Given the description of an element on the screen output the (x, y) to click on. 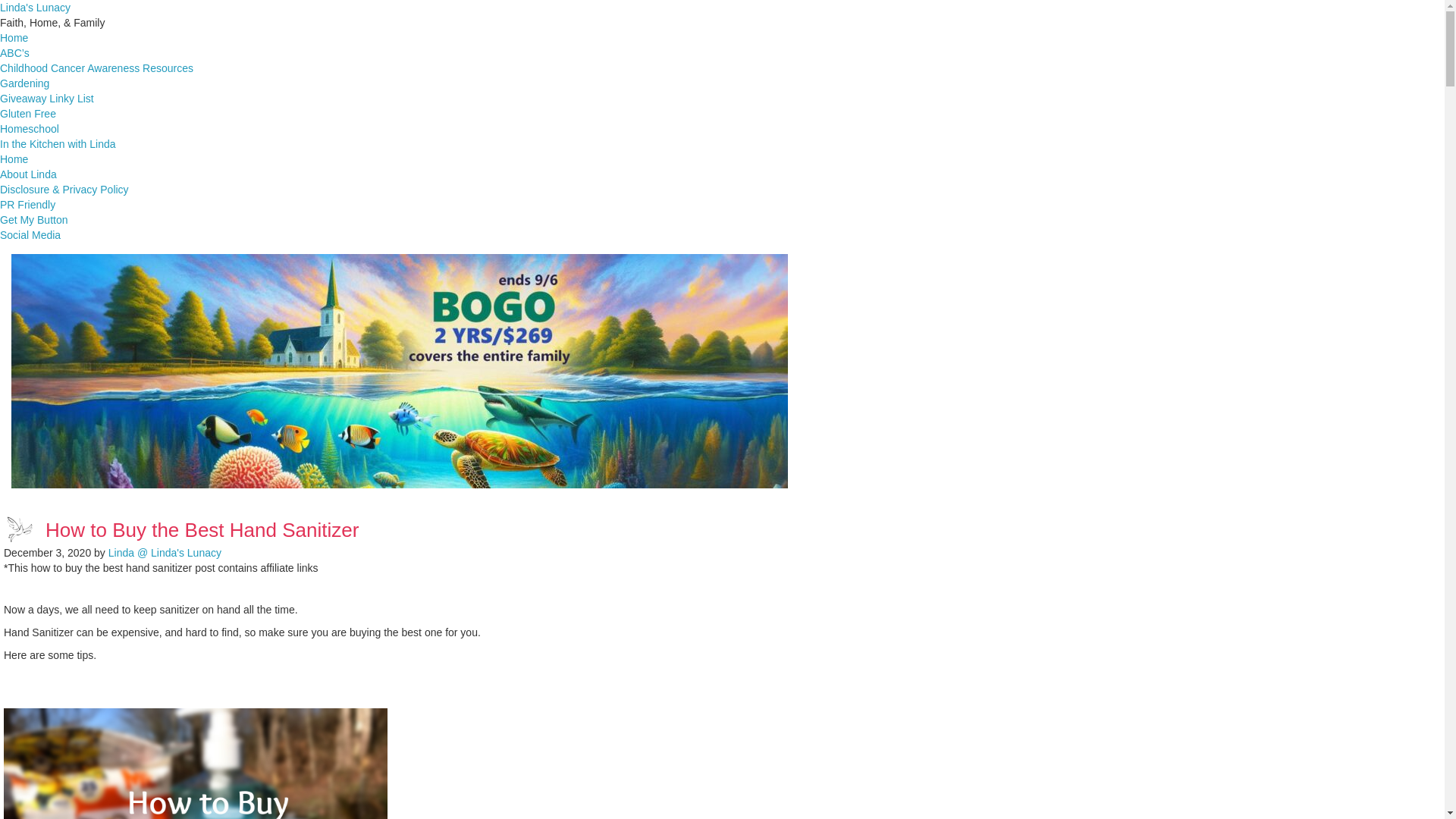
In the Kitchen with Linda (58, 143)
Gardening (24, 82)
Linda's Lunacy (34, 7)
Get My Button (33, 219)
About Linda (28, 174)
Giveaway Linky List (47, 98)
PR Friendly (27, 204)
Gluten Free (28, 113)
Childhood Cancer Awareness Resources (96, 68)
Home (13, 37)
